Given the description of an element on the screen output the (x, y) to click on. 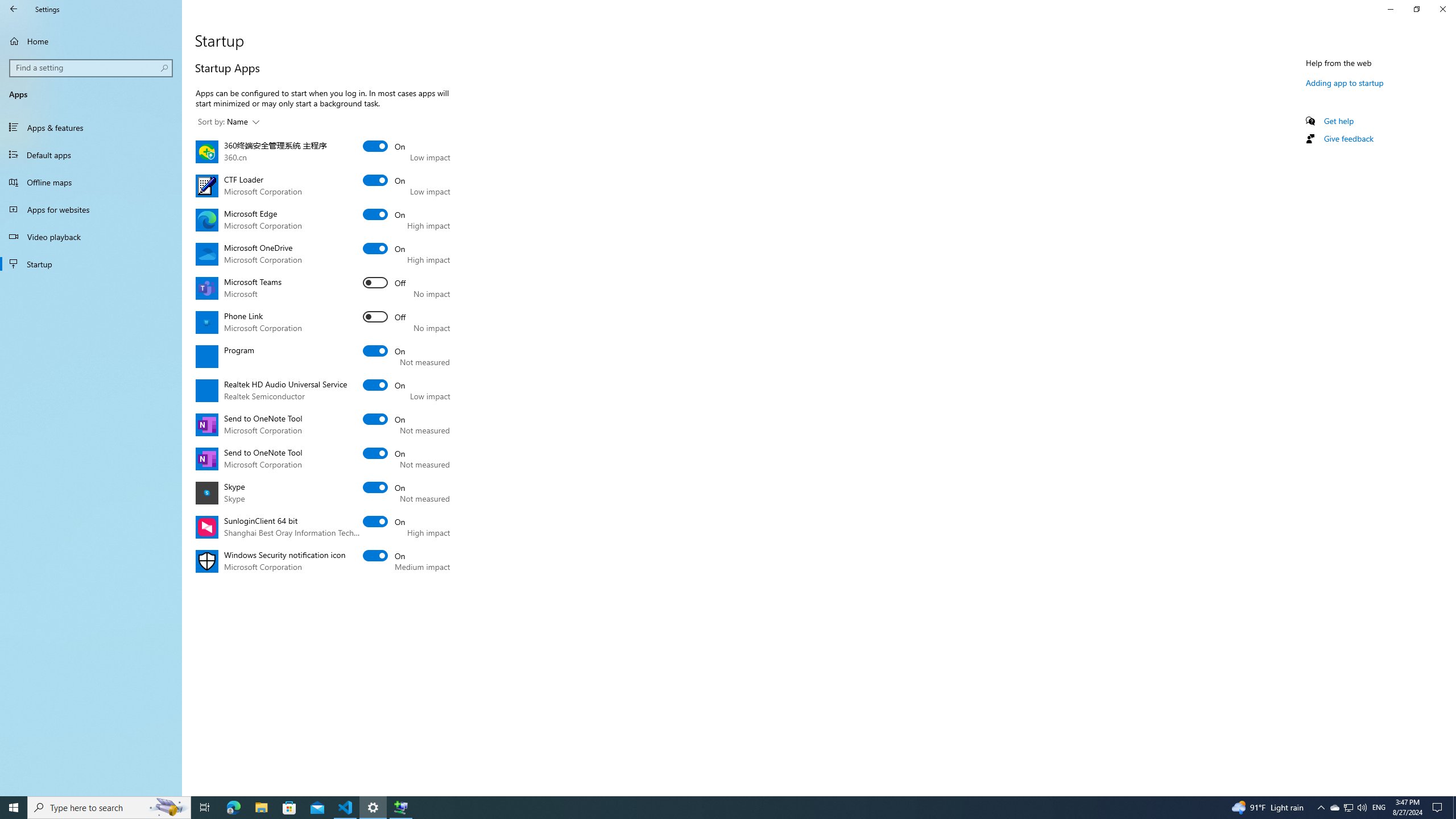
Phone Link (384, 316)
Microsoft OneDrive (384, 248)
Send to OneNote Tool (384, 452)
Adding app to startup (1344, 82)
Offline maps (91, 181)
Get help (1338, 120)
CTF Loader (384, 180)
Startup (91, 263)
